Given the description of an element on the screen output the (x, y) to click on. 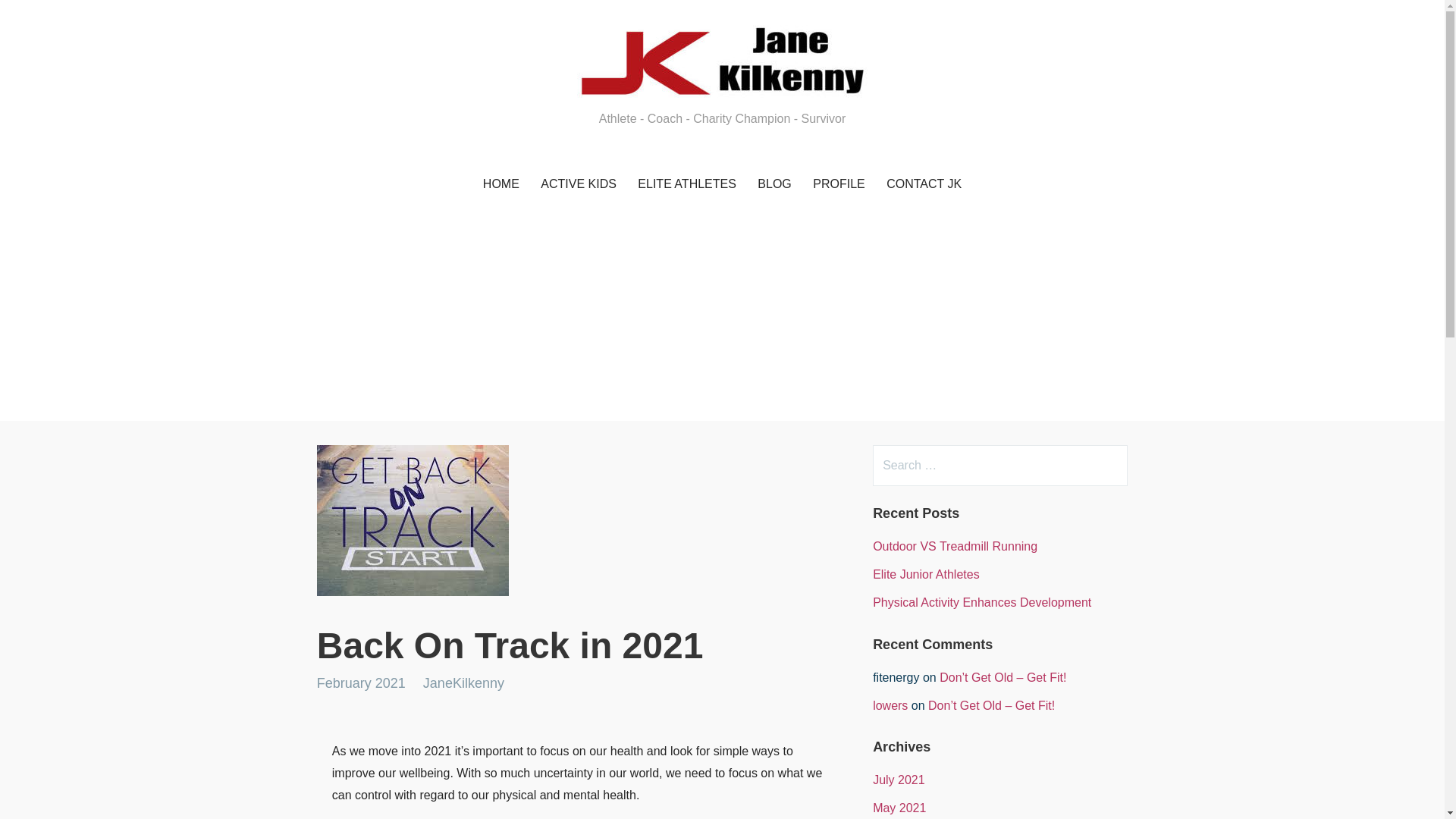
JaneKilkenny (463, 683)
Posts by JaneKilkenny (463, 683)
July 2021 (898, 779)
Outdoor VS Treadmill Running (954, 545)
Search (42, 18)
HOME (501, 184)
CONTACT JK (924, 184)
Elite Junior Athletes (925, 574)
May 2021 (899, 807)
